Given the description of an element on the screen output the (x, y) to click on. 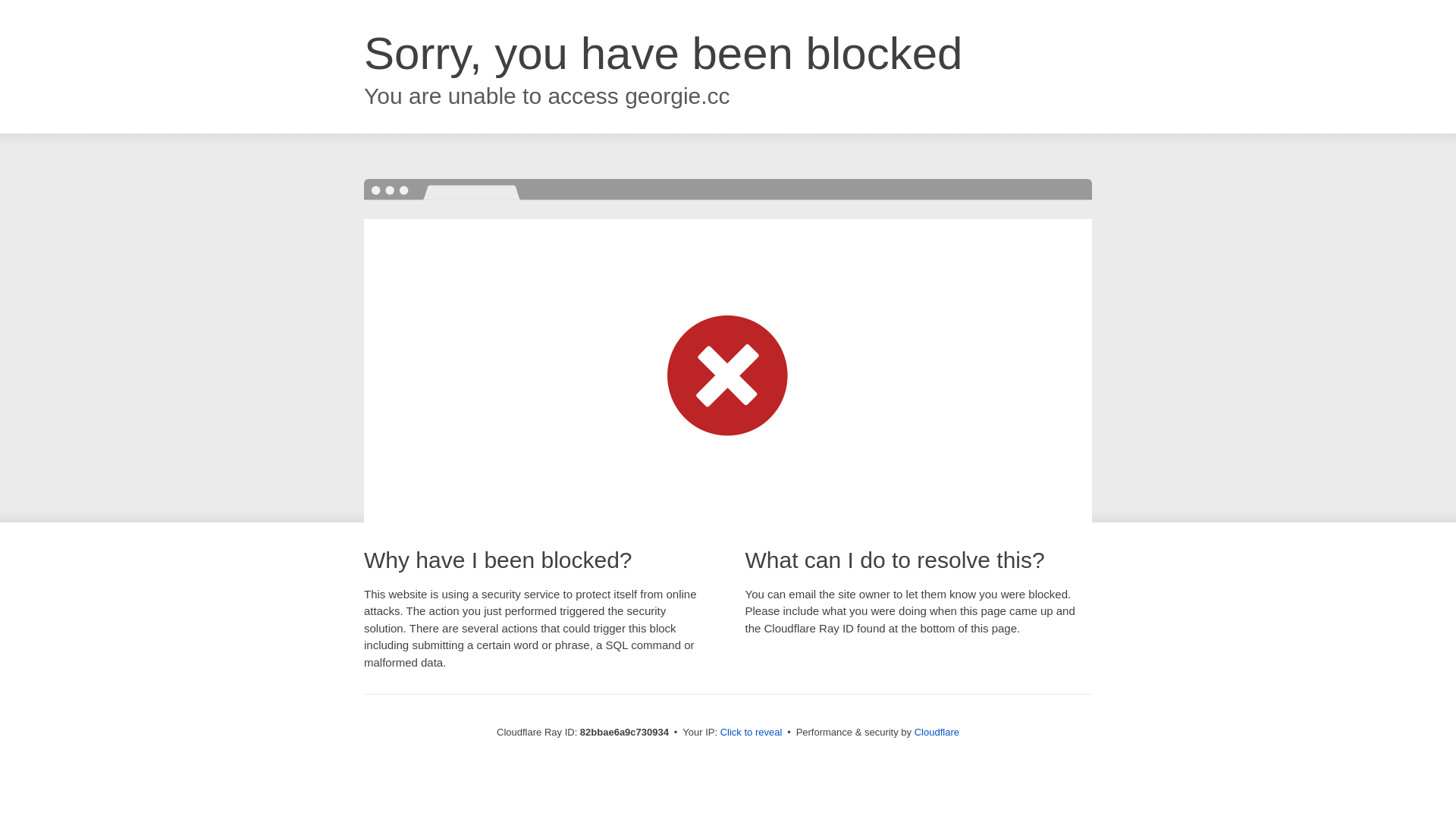
Cloudflare Element type: text (936, 731)
Click to reveal Element type: text (751, 732)
